Given the description of an element on the screen output the (x, y) to click on. 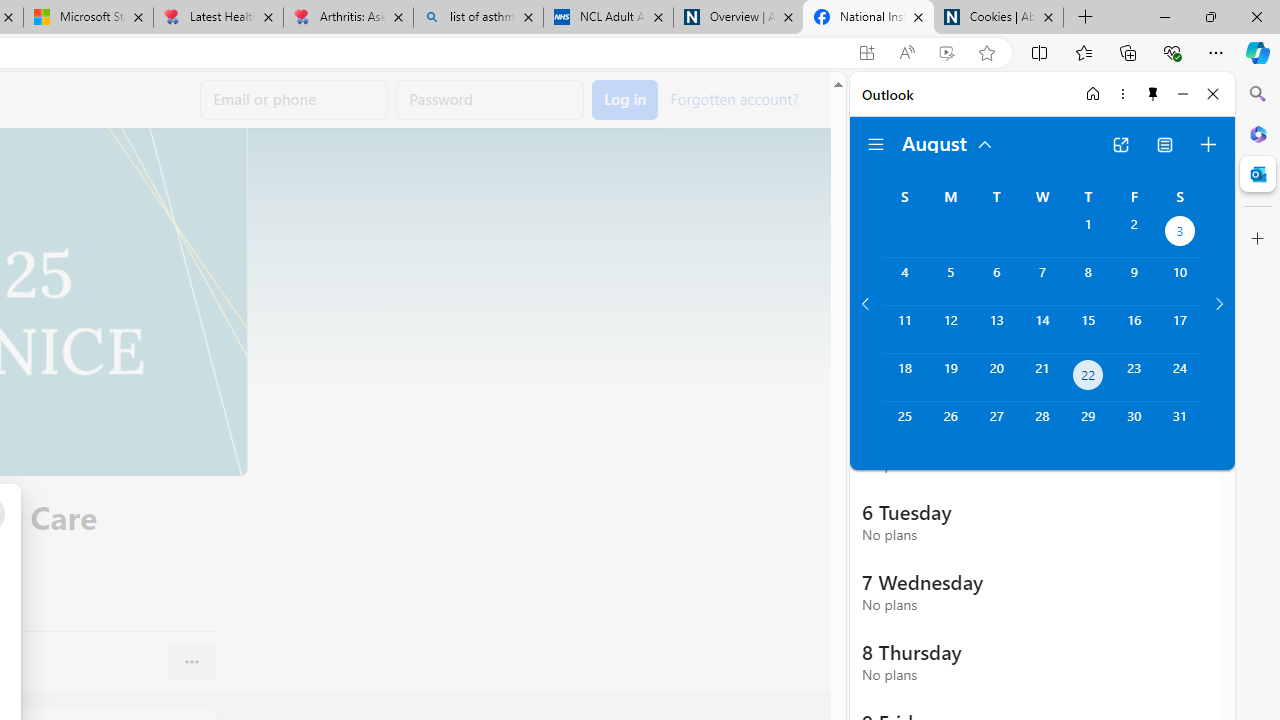
Monday, August 19, 2024.  (950, 377)
Create event (1208, 144)
Tuesday, August 13, 2024.  (996, 329)
Thursday, August 22, 2024. Today.  (1088, 377)
Sunday, August 18, 2024.  (904, 377)
Open in new tab (1120, 144)
Friday, August 16, 2024.  (1134, 329)
Monday, August 26, 2024.  (950, 425)
Thursday, August 8, 2024.  (1088, 281)
Thursday, August 15, 2024.  (1088, 329)
Sunday, August 11, 2024.  (904, 329)
